Given the description of an element on the screen output the (x, y) to click on. 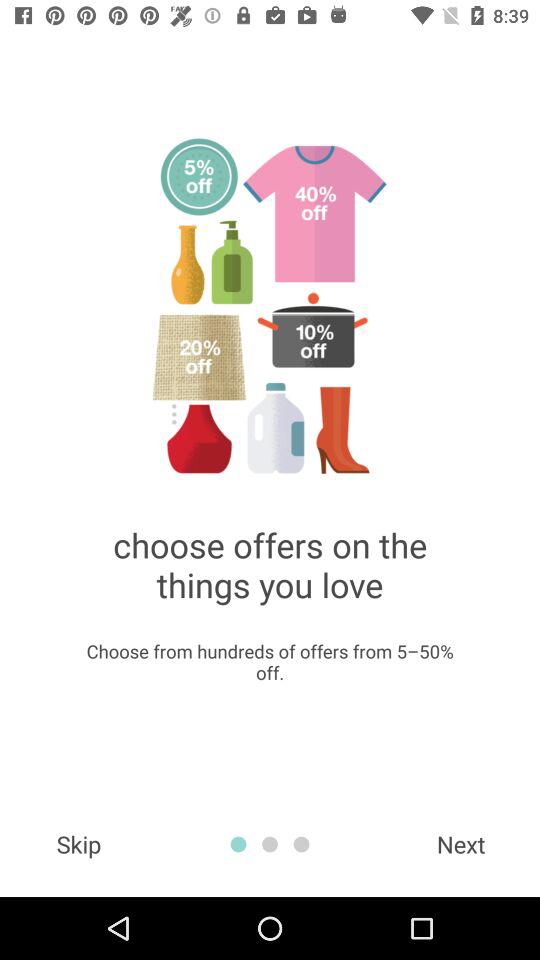
swipe to next (461, 844)
